Given the description of an element on the screen output the (x, y) to click on. 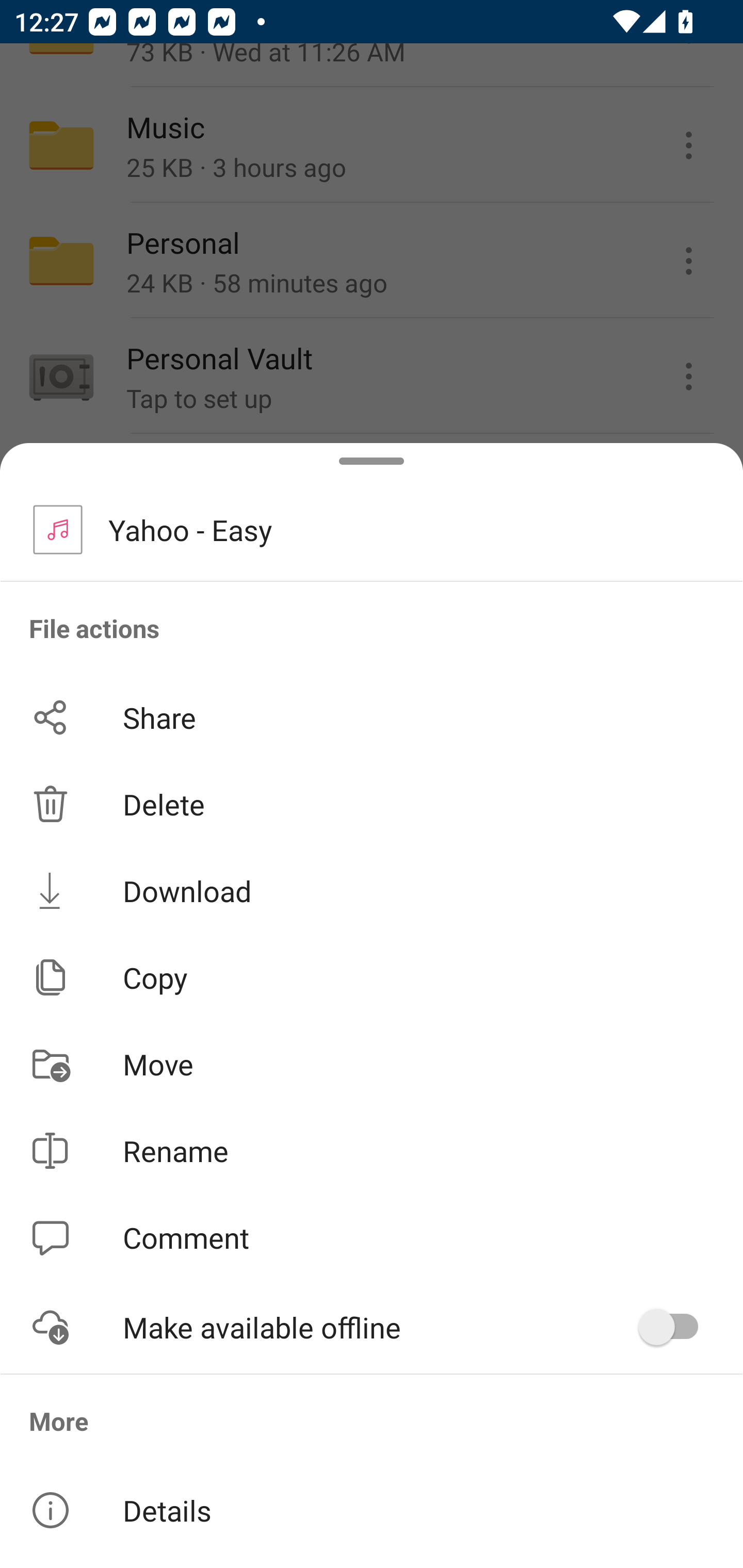
Share button Share (371, 717)
Delete button Delete (371, 803)
Download button Download (371, 890)
Copy button Copy (371, 977)
Move button Move (371, 1063)
Rename button Rename (371, 1150)
Comment button Comment (371, 1237)
Make offline operation (674, 1327)
Details button Details (371, 1510)
